Given the description of an element on the screen output the (x, y) to click on. 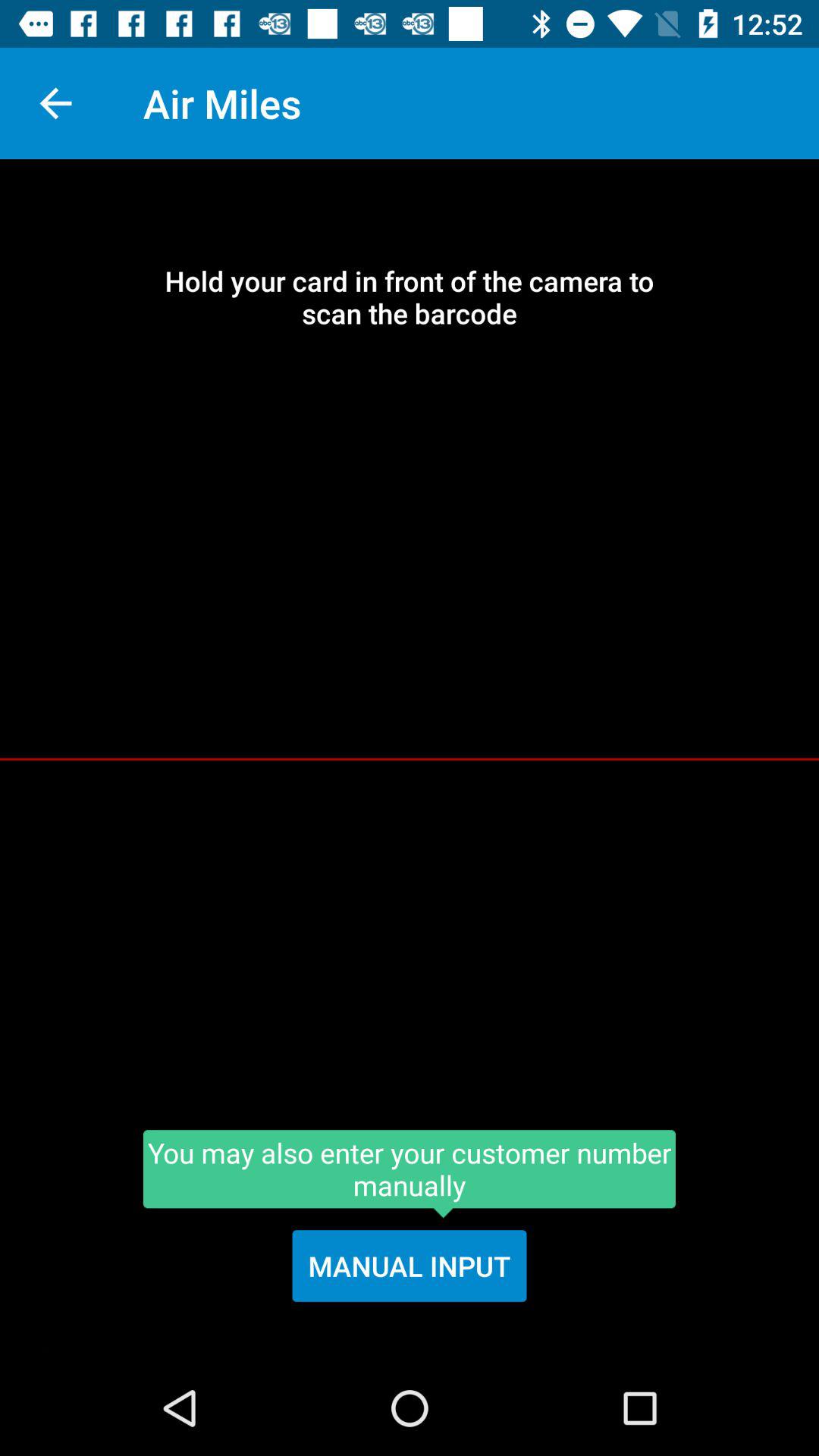
launch icon to the left of the air miles (55, 103)
